Given the description of an element on the screen output the (x, y) to click on. 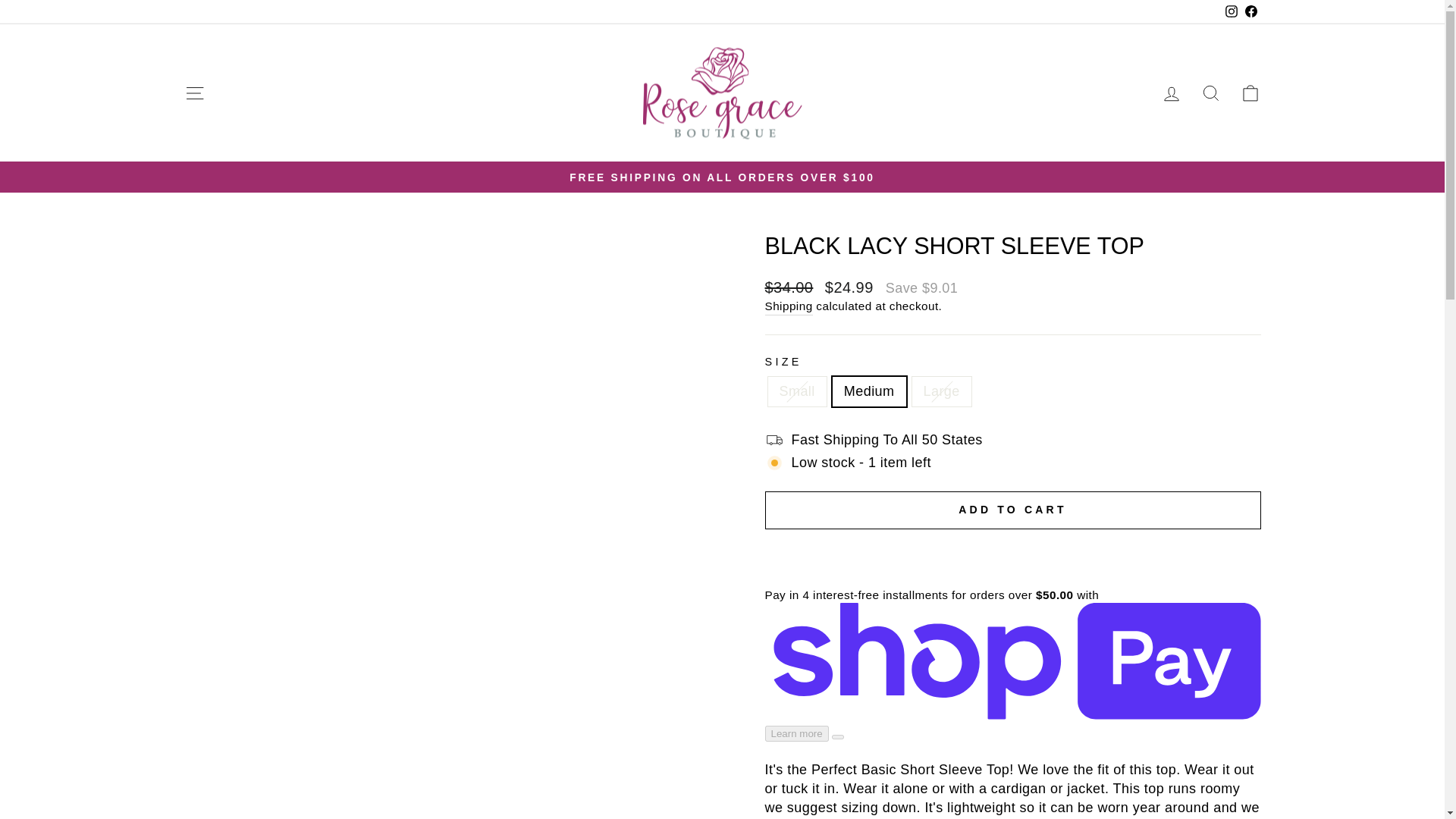
SITE NAVIGATION (194, 92)
